Given the description of an element on the screen output the (x, y) to click on. 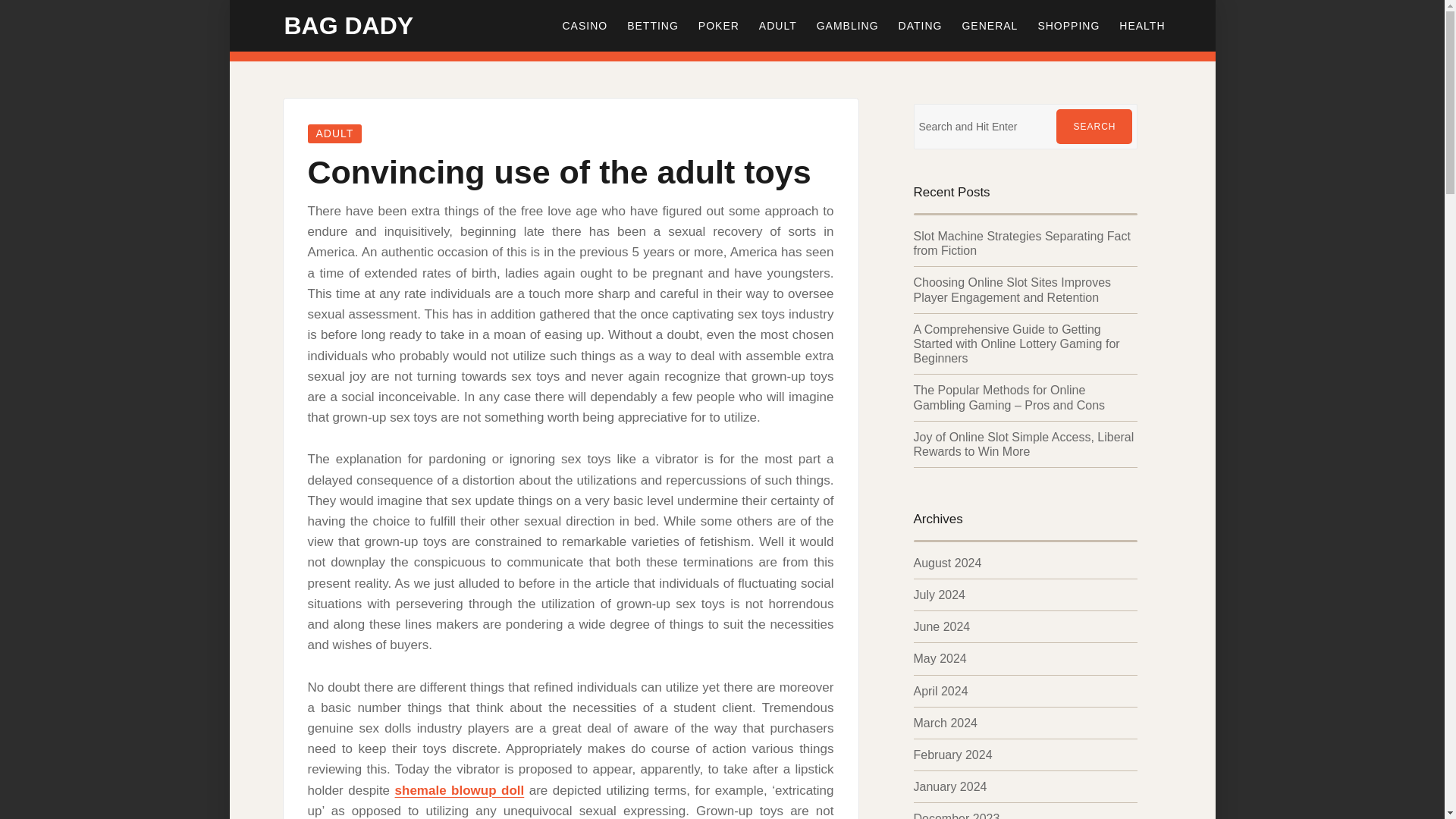
Slot Machine Strategies Separating Fact from Fiction (1020, 243)
February 2024 (951, 754)
July 2024 (938, 594)
June 2024 (940, 626)
GAMBLING (847, 25)
March 2024 (944, 722)
December 2023 (955, 815)
January 2024 (949, 786)
HEALTH (1141, 25)
